Given the description of an element on the screen output the (x, y) to click on. 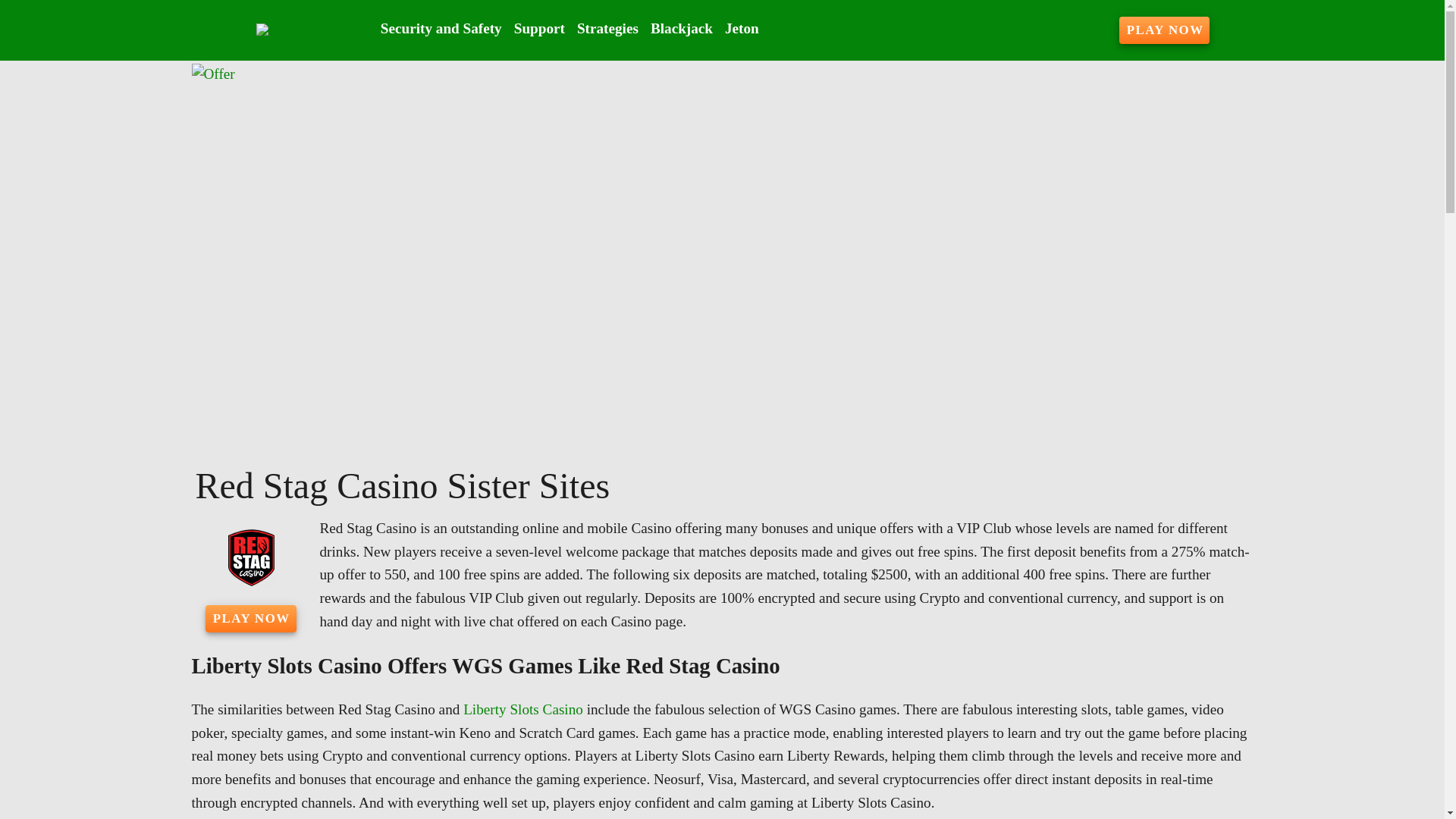
Jeton (742, 28)
PLAY NOW (1164, 30)
Liberty Slots Casino (523, 709)
Blackjack (682, 28)
PLAY NOW (250, 618)
Strategies (607, 28)
Support (539, 28)
Security and Safety (441, 28)
